Given the description of an element on the screen output the (x, y) to click on. 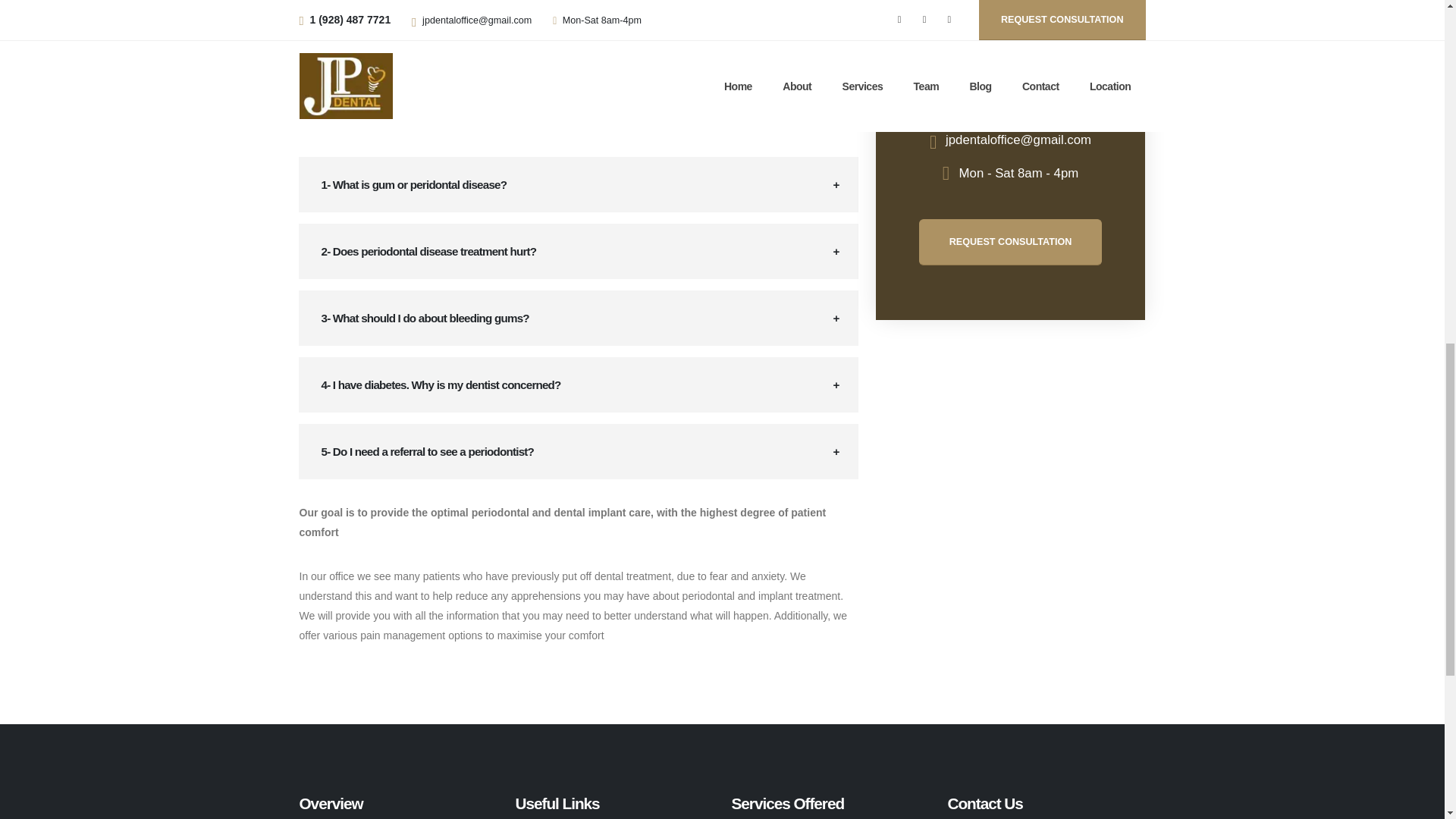
2- Does periodontal disease treatment hurt? (578, 252)
3- What should I do about bleeding gums? (578, 318)
1- What is gum or peridontal disease? (578, 185)
5- Do I need a referral to see a periodontist? (578, 451)
4- I have diabetes. Why is my dentist concerned? (578, 385)
REQUEST CONSULTATION (1009, 242)
